Given the description of an element on the screen output the (x, y) to click on. 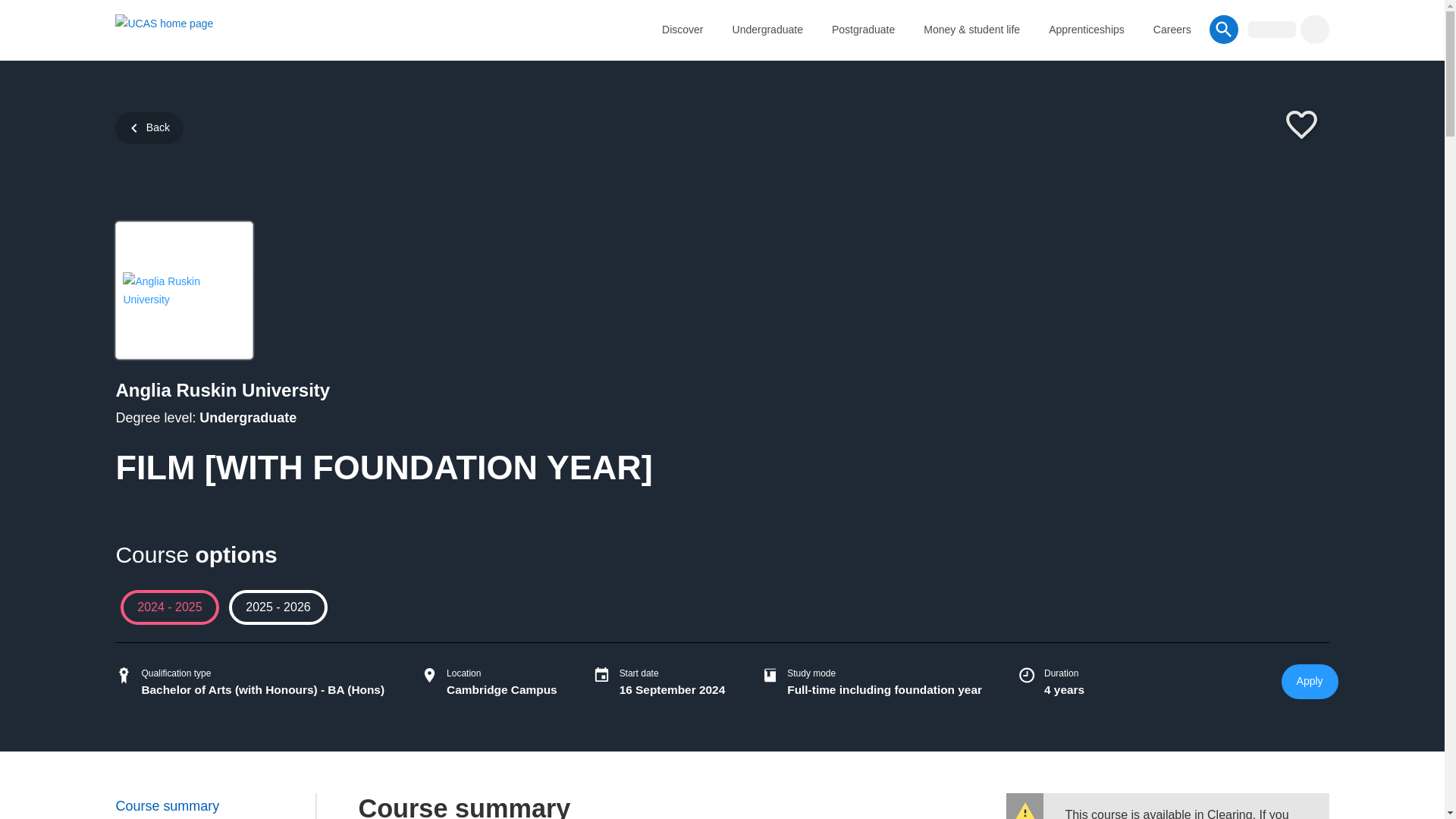
Undergraduate (767, 29)
Discover (682, 29)
Add option to favourites (1301, 125)
Back to previous page (149, 128)
